Given the description of an element on the screen output the (x, y) to click on. 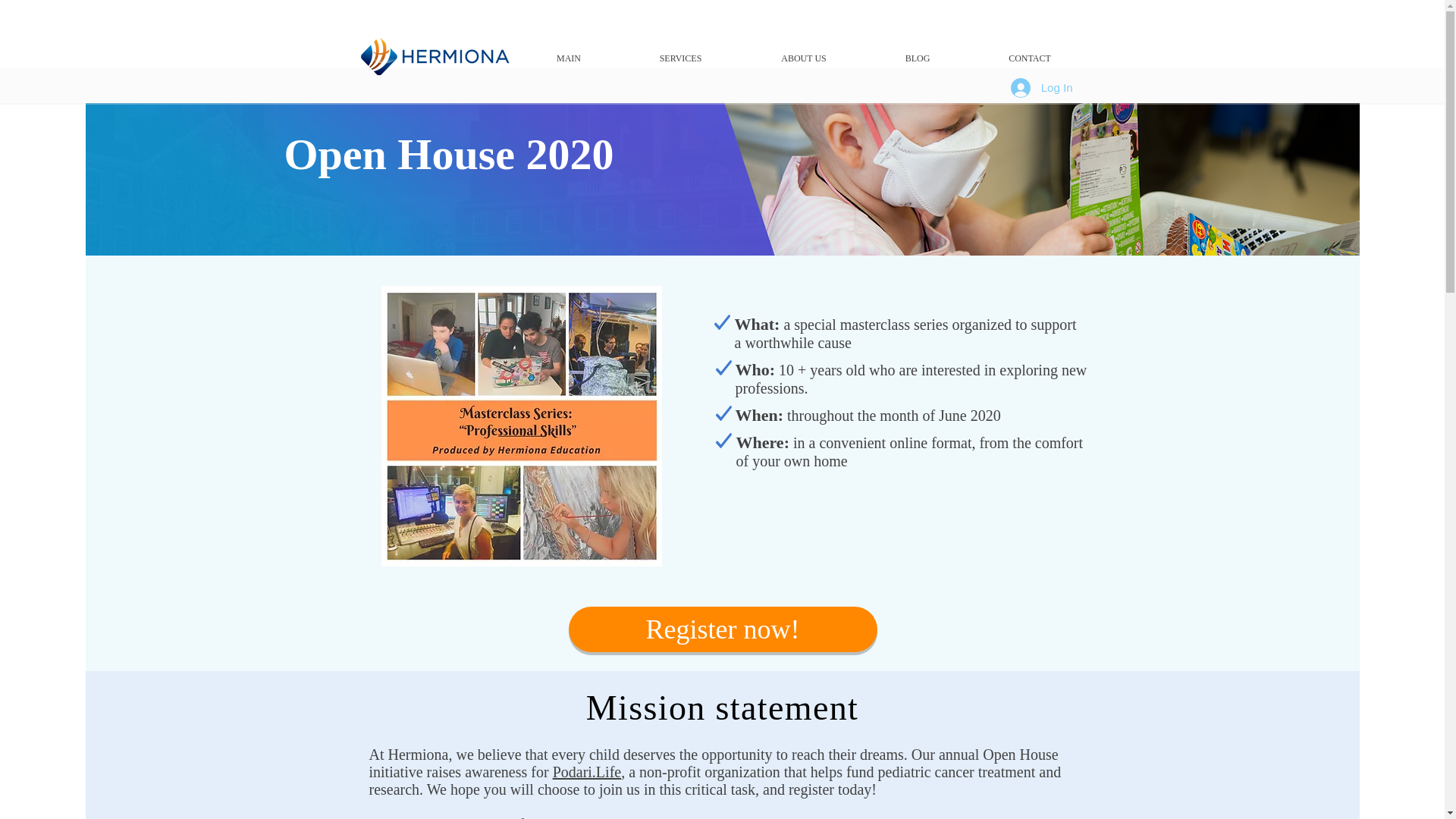
ABOUT US (803, 58)
Podari.Life (587, 771)
BLOG (917, 58)
SERVICES (680, 58)
Register now! (723, 628)
MAIN (568, 58)
CONTACT (1029, 58)
Log In (1041, 86)
